Given the description of an element on the screen output the (x, y) to click on. 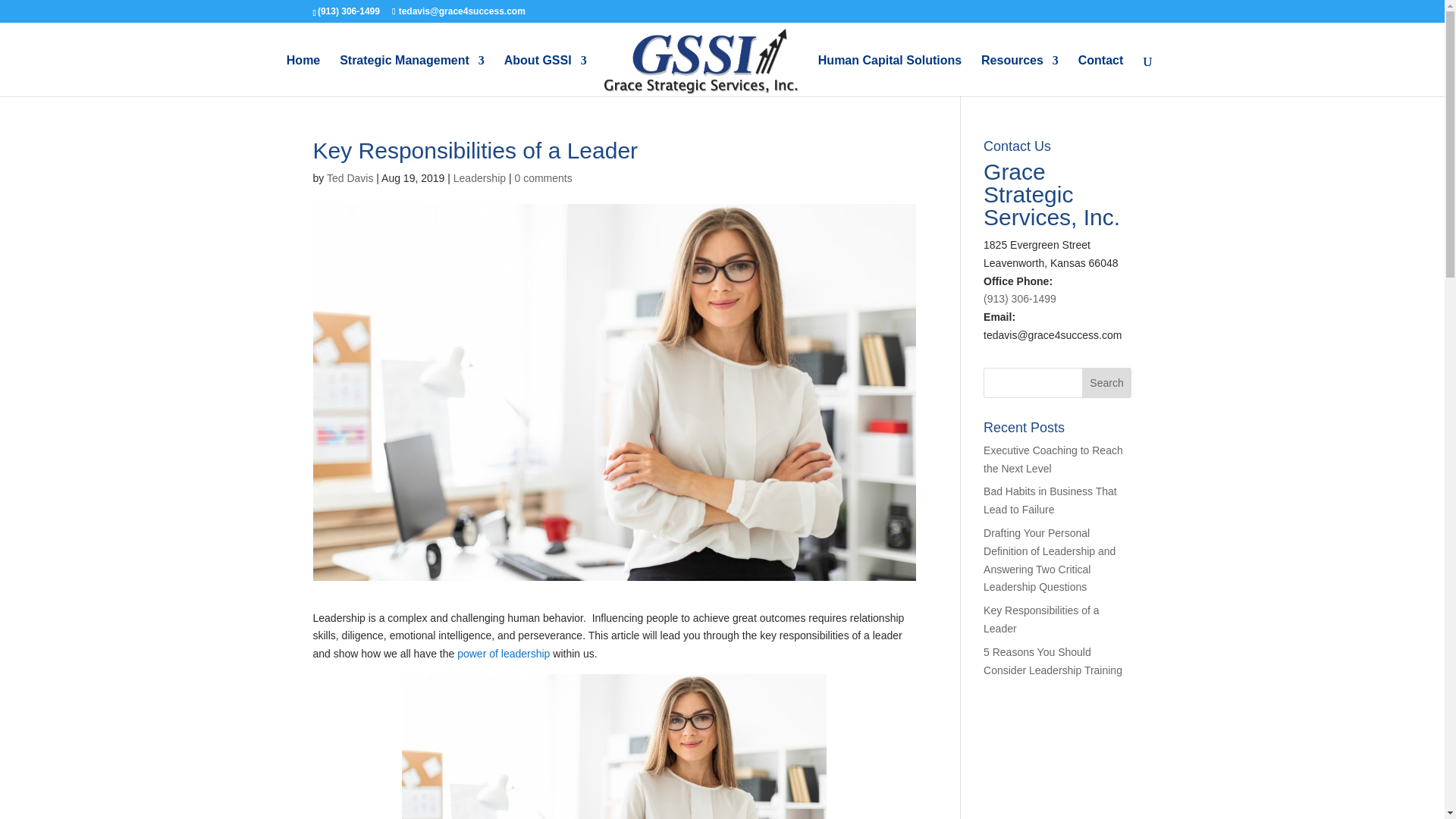
Human Capital Solutions (889, 75)
Strategic Management (411, 75)
Resources (1019, 75)
power of leadership (503, 653)
Posts by Ted Davis (349, 177)
About GSSI (544, 75)
Contact (1101, 75)
Leadership (478, 177)
0 comments (542, 177)
Ted Davis (349, 177)
Search (1106, 382)
